Given the description of an element on the screen output the (x, y) to click on. 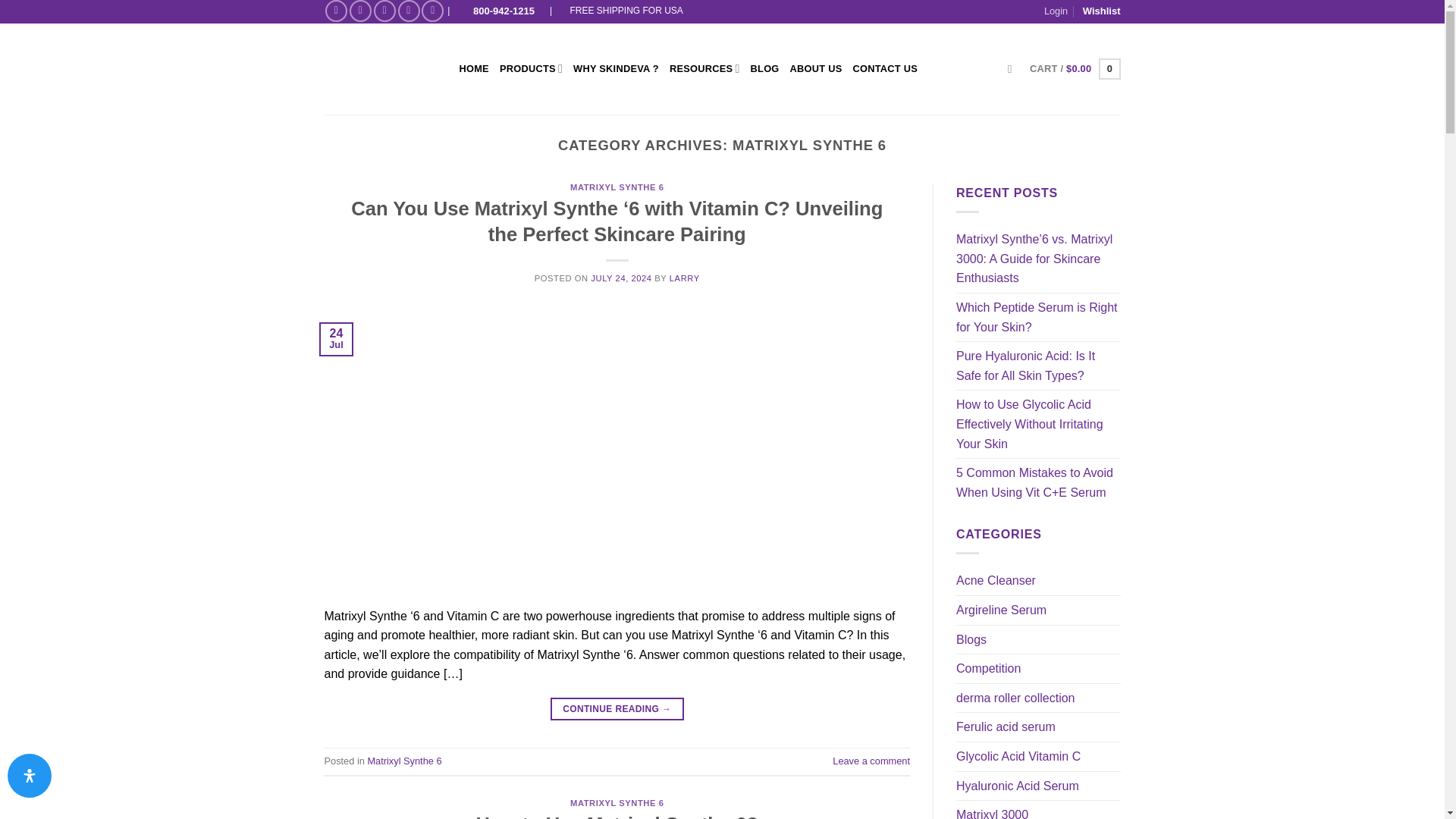
CONTACT US (884, 69)
SKIN DEVA - Anti Aging Serum for your Skin ! (380, 68)
Follow on Facebook (335, 11)
Accessibility (28, 775)
Follow on Instagram (360, 11)
Follow on Pinterest (433, 11)
Login (1055, 11)
RESOURCES (704, 69)
HOME (474, 69)
Follow on Twitter (408, 11)
